Given the description of an element on the screen output the (x, y) to click on. 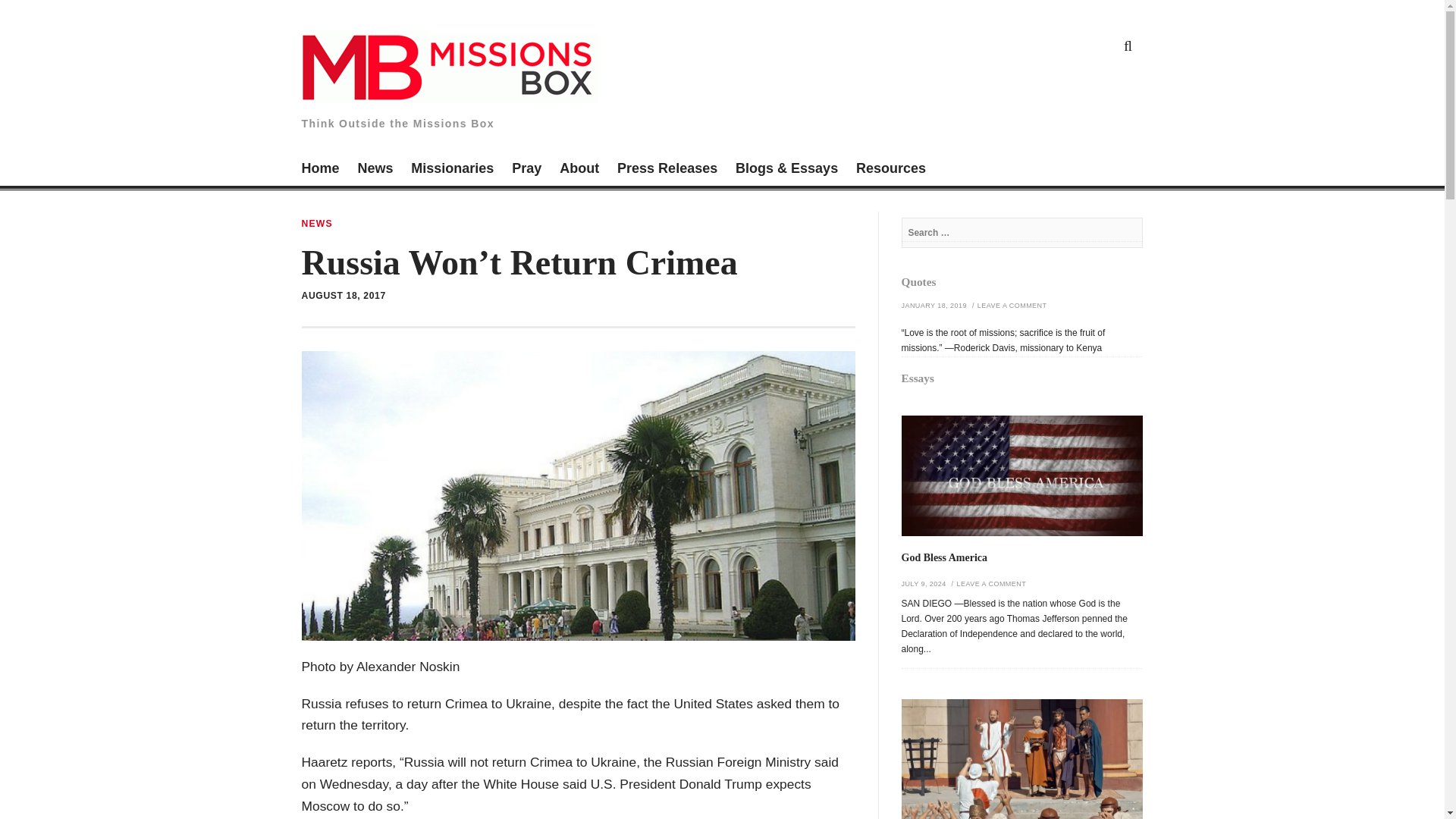
Press Releases (667, 170)
Home (320, 170)
News (374, 170)
Missions Box Press Releases (667, 170)
Resources (891, 170)
NEWS (317, 223)
About (578, 170)
About (578, 170)
AUGUST 18, 2017 (343, 295)
Missions Box Home Page (320, 170)
Missionaries (451, 170)
